Given the description of an element on the screen output the (x, y) to click on. 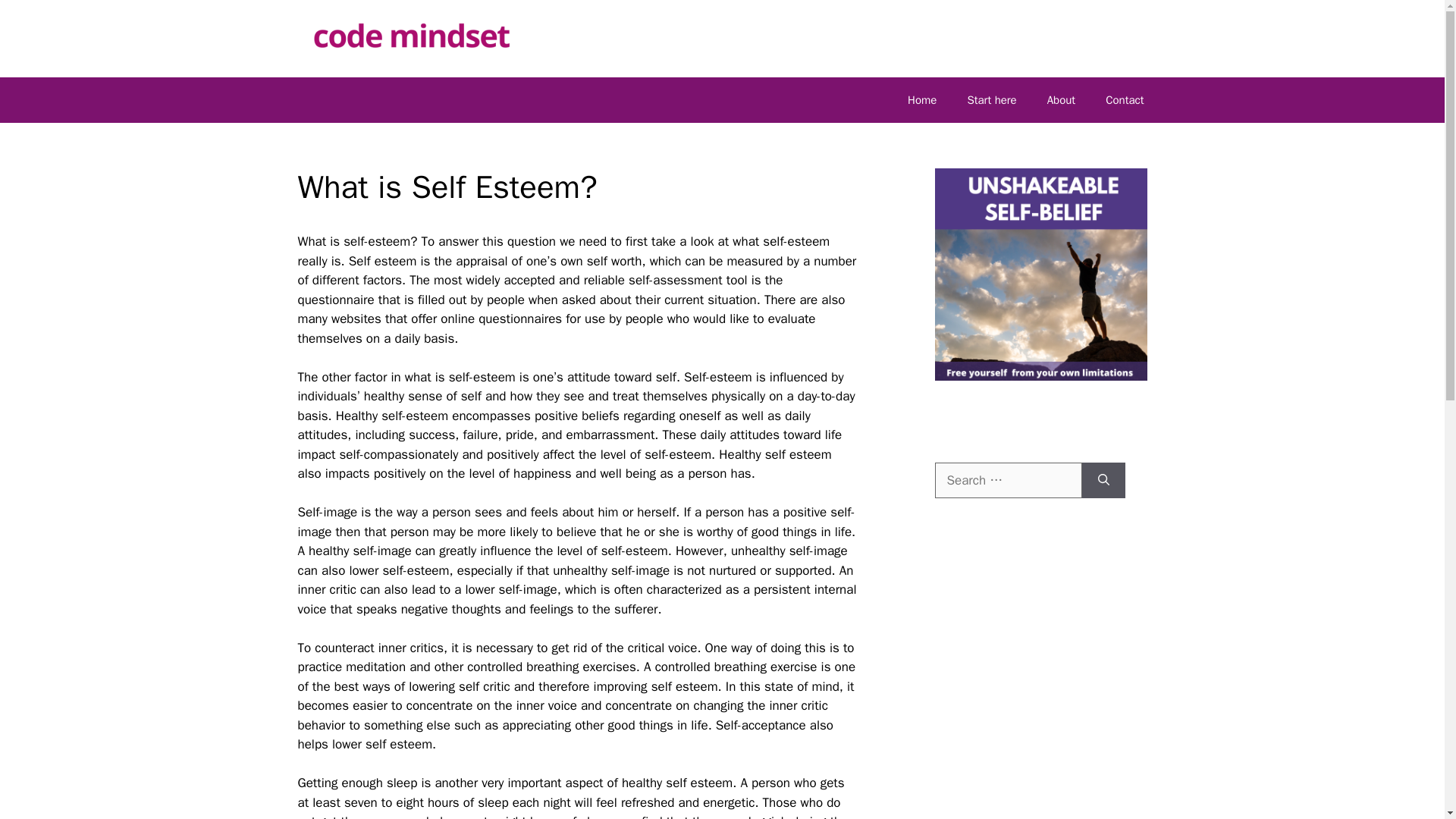
Search for: (1007, 480)
About (1061, 99)
Home (922, 99)
Contact (1124, 99)
Start here (991, 99)
